Given the description of an element on the screen output the (x, y) to click on. 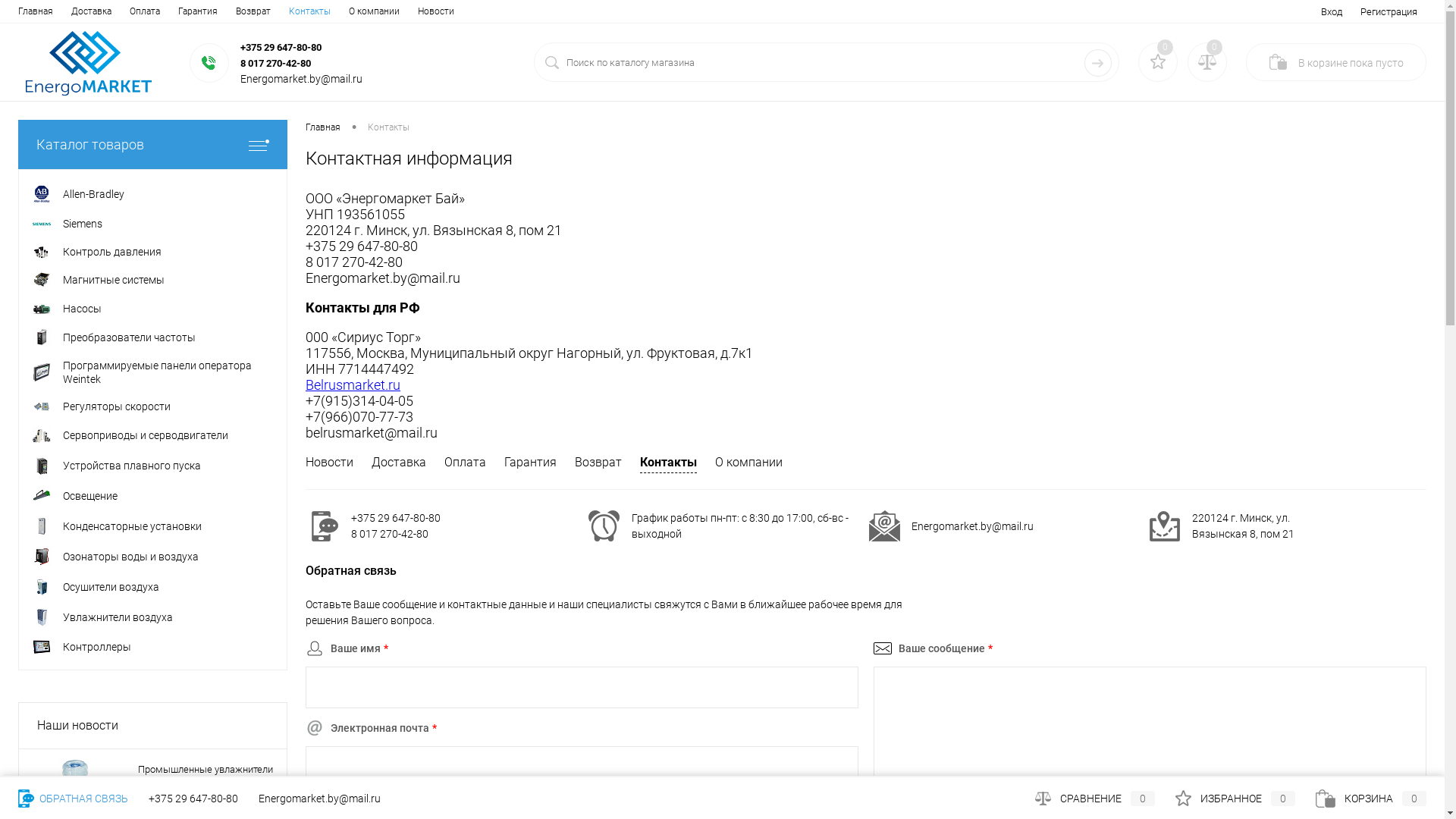
0 Element type: text (1214, 47)
Belrusmarket.ru Element type: text (352, 384)
Siemens Element type: hover (41, 224)
Energomarket.by@mail.ru Element type: text (319, 798)
8 017 270-42-80 Element type: text (275, 63)
+375 29 647-80-80 Element type: text (193, 798)
0 Element type: text (1165, 47)
Y Element type: text (1098, 62)
Allen-Bradley Element type: hover (41, 194)
cont1.png Element type: hover (323, 526)
cont2.png Element type: hover (884, 526)
+375 29 647-80-80 Element type: text (280, 47)
cont3.png Element type: hover (1163, 526)
cont4.png Element type: hover (604, 526)
EnergoMarket_logo_new_finish.png Element type: hover (88, 63)
Siemens Element type: text (152, 223)
Allen-Bradley Element type: text (152, 193)
Energomarket.by@mail.ru Element type: text (972, 526)
